Given the description of an element on the screen output the (x, y) to click on. 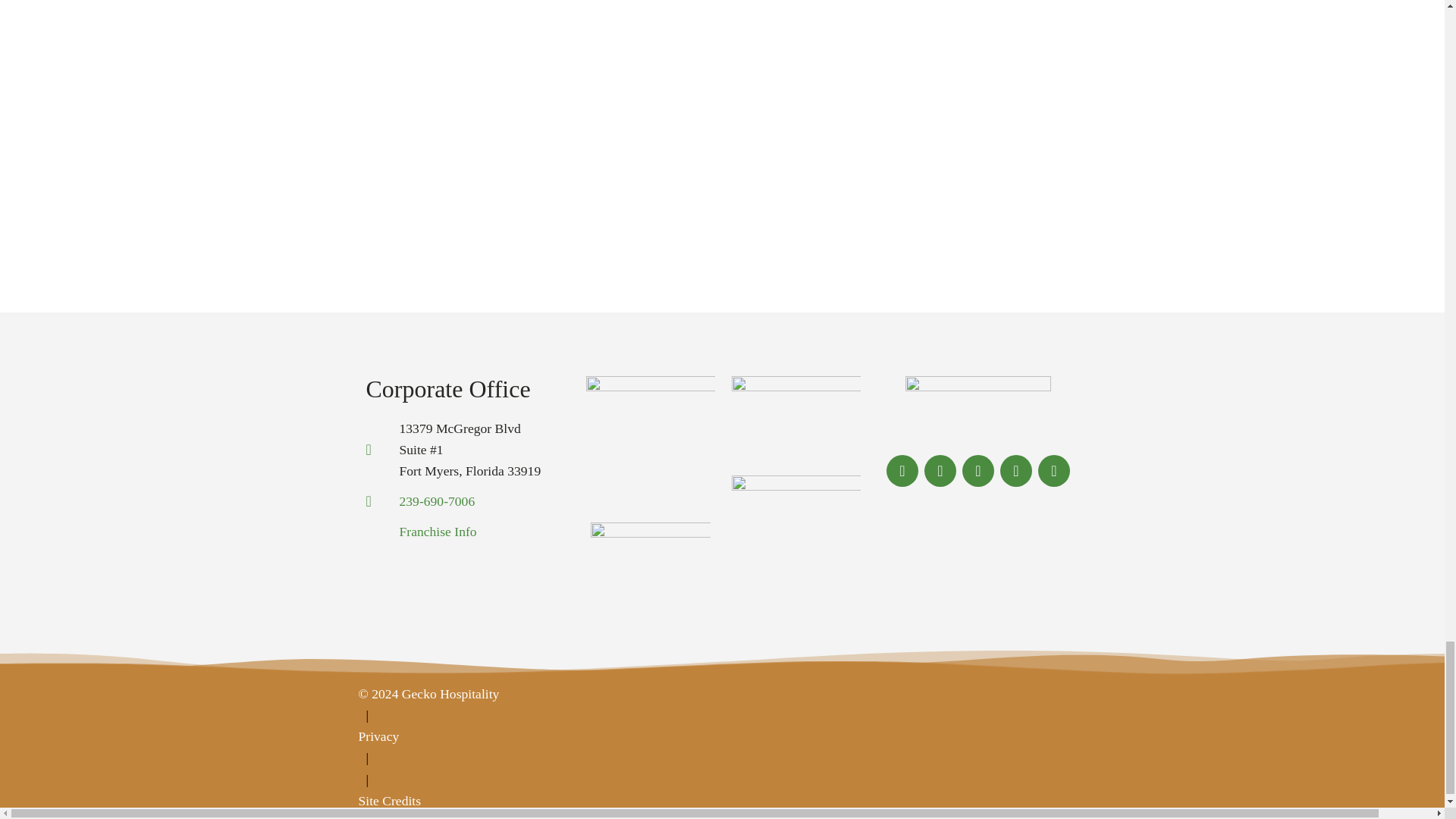
Follow Gecko Hospitality on Twitter (940, 470)
Follow Gecko Hospitality on Twitter (940, 471)
Follow Gecko Hospitality on Facebook (902, 470)
Connect with Gecko Hospitality on LinkedIn (978, 470)
Subscribe to Gecko Hospitality on YouTube (1054, 471)
Connect with Gecko Hospitality on LinkedIn (978, 471)
Subscribe to Gecko Hospitality on YouTube (1054, 470)
Follow Gecko Hospitality on Facebook (902, 471)
